Given the description of an element on the screen output the (x, y) to click on. 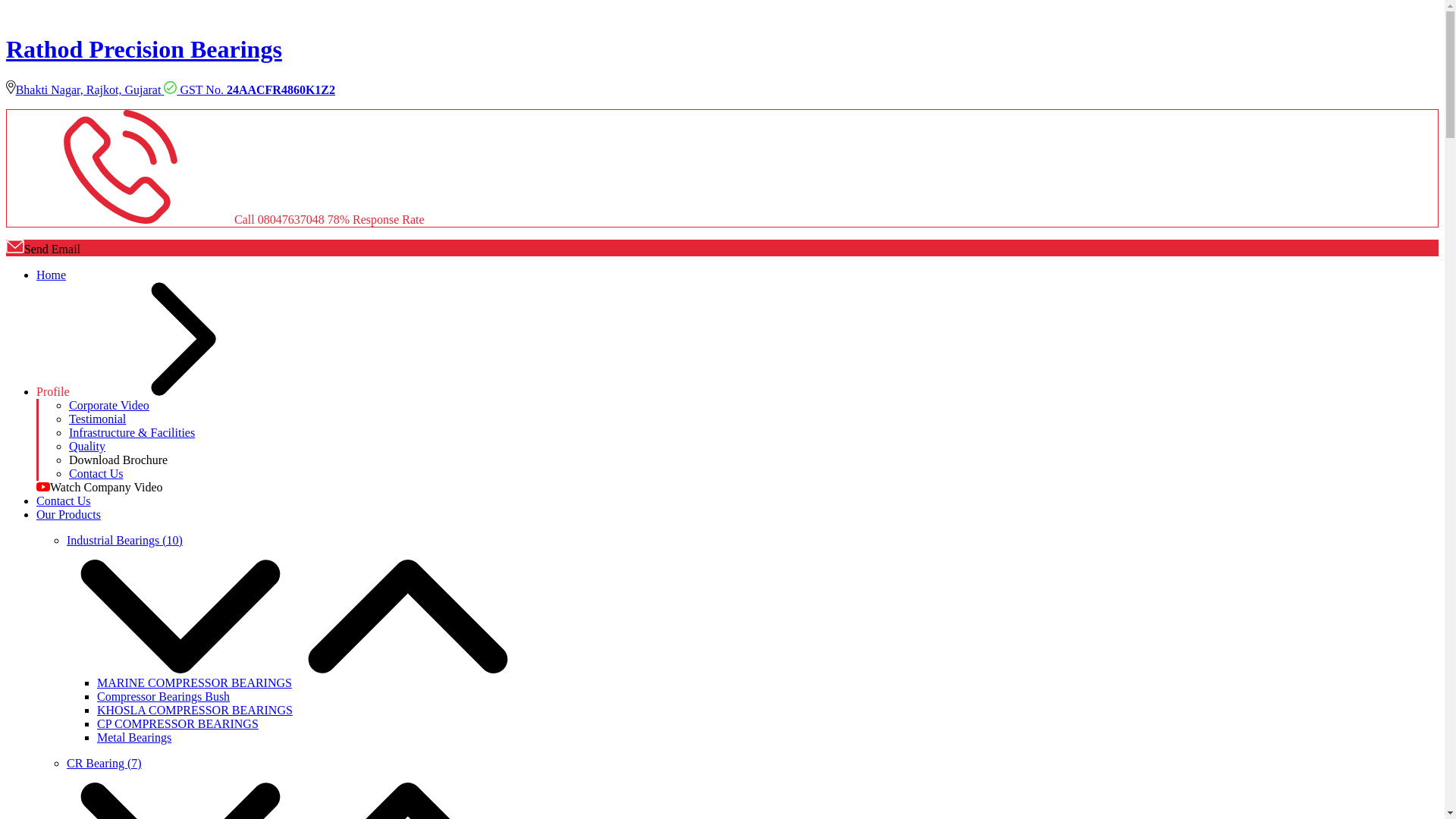
Contact Us (95, 472)
Our Products (68, 513)
Profile (166, 391)
MARINE COMPRESSOR BEARINGS (194, 682)
Quality (86, 445)
Compressor Bearings Bush (163, 696)
KHOSLA COMPRESSOR BEARINGS (194, 709)
Home (50, 274)
Metal Bearings (134, 737)
Testimonial (96, 418)
Corporate Video (108, 404)
CP COMPRESSOR BEARINGS (178, 723)
Contact Us (63, 500)
